Given the description of an element on the screen output the (x, y) to click on. 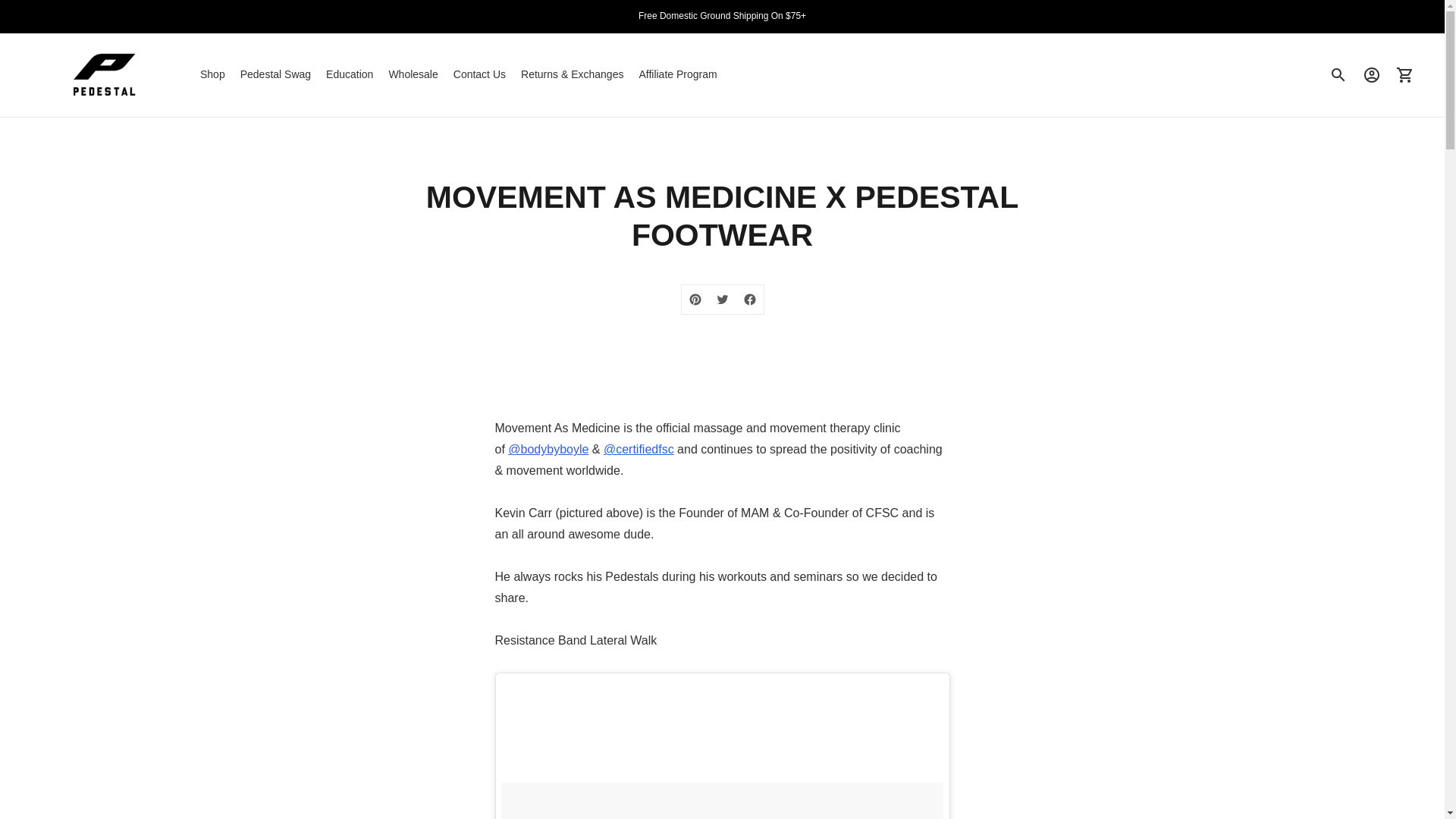
Pedestal Swag (275, 74)
Share to Facebook (748, 299)
Share to Pinterest (694, 299)
Search (1338, 74)
Affiliate Program (677, 74)
Wholesale (413, 74)
Contact Us (478, 74)
Cart (1405, 74)
Account (1372, 74)
Share to twitter (721, 299)
